Given the description of an element on the screen output the (x, y) to click on. 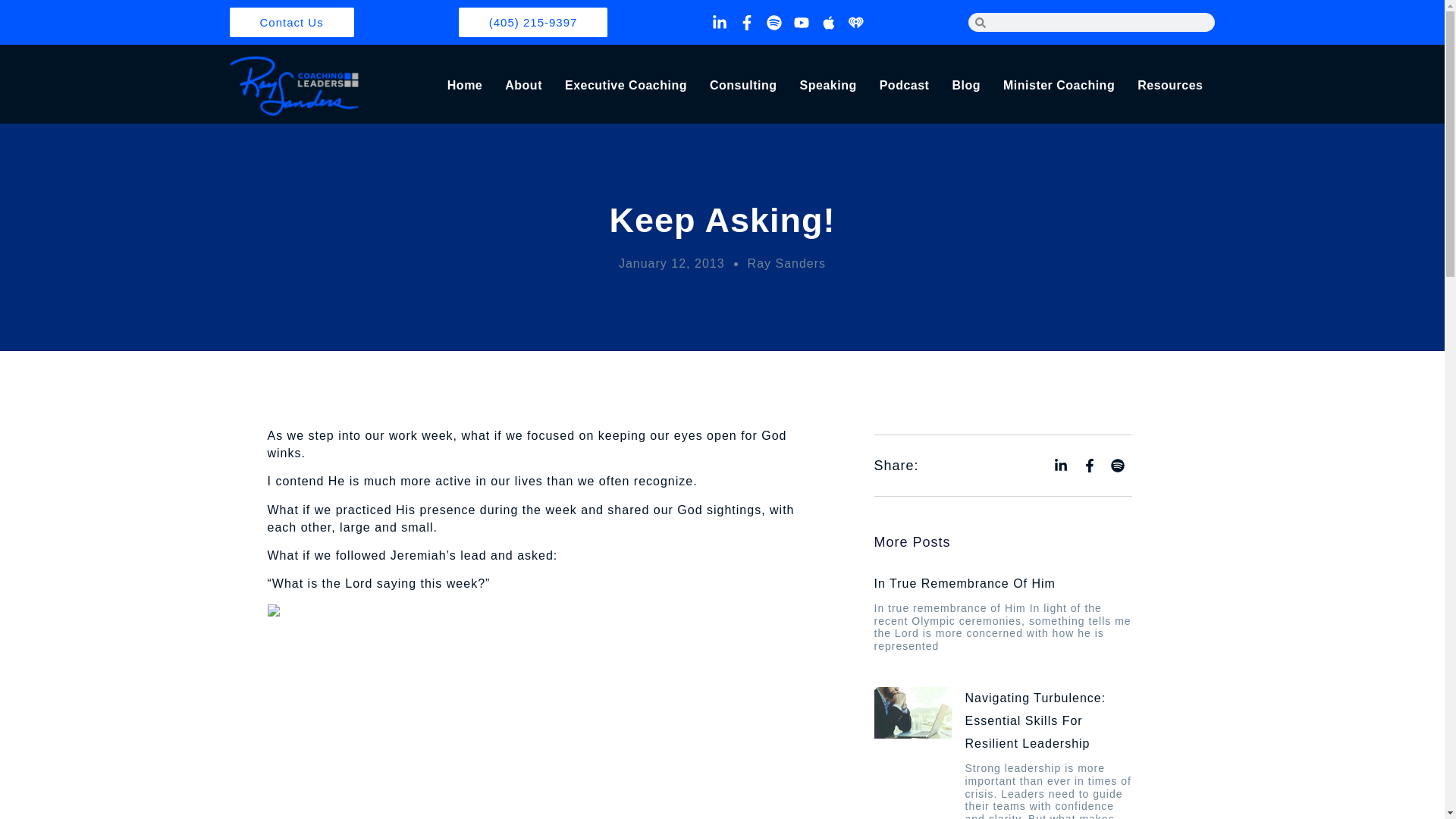
Minister Coaching (1058, 85)
Contact Us (290, 21)
Executive Coaching (625, 85)
Ray Sanders (787, 262)
About (523, 85)
Podcast (903, 85)
In True Remembrance Of Him (963, 583)
Speaking (828, 85)
January 12, 2013 (671, 262)
Resources (1169, 85)
